Given the description of an element on the screen output the (x, y) to click on. 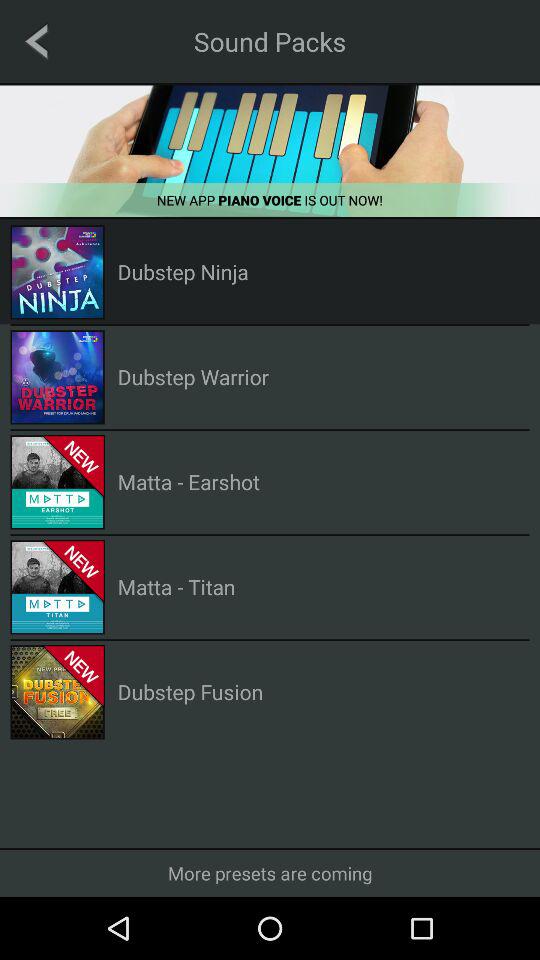
go to download page aplication (270, 150)
